Given the description of an element on the screen output the (x, y) to click on. 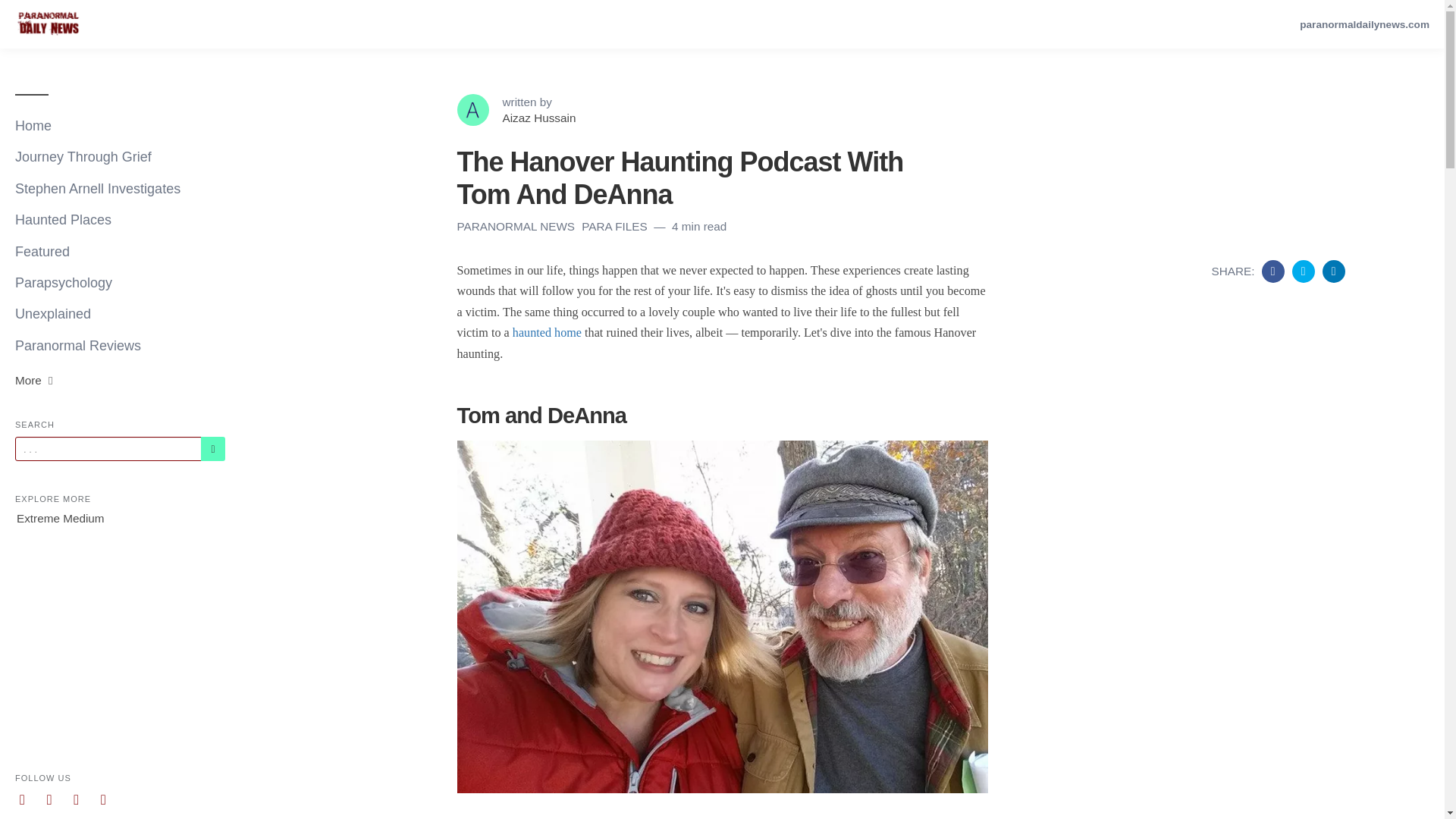
Haunted Places (119, 219)
paranormaldailynews.com (1364, 24)
Stephen Arnell Investigates (119, 188)
Journey Through Grief (119, 156)
Featured (119, 251)
Home (119, 125)
Paranormal Daily News (47, 23)
